Given the description of an element on the screen output the (x, y) to click on. 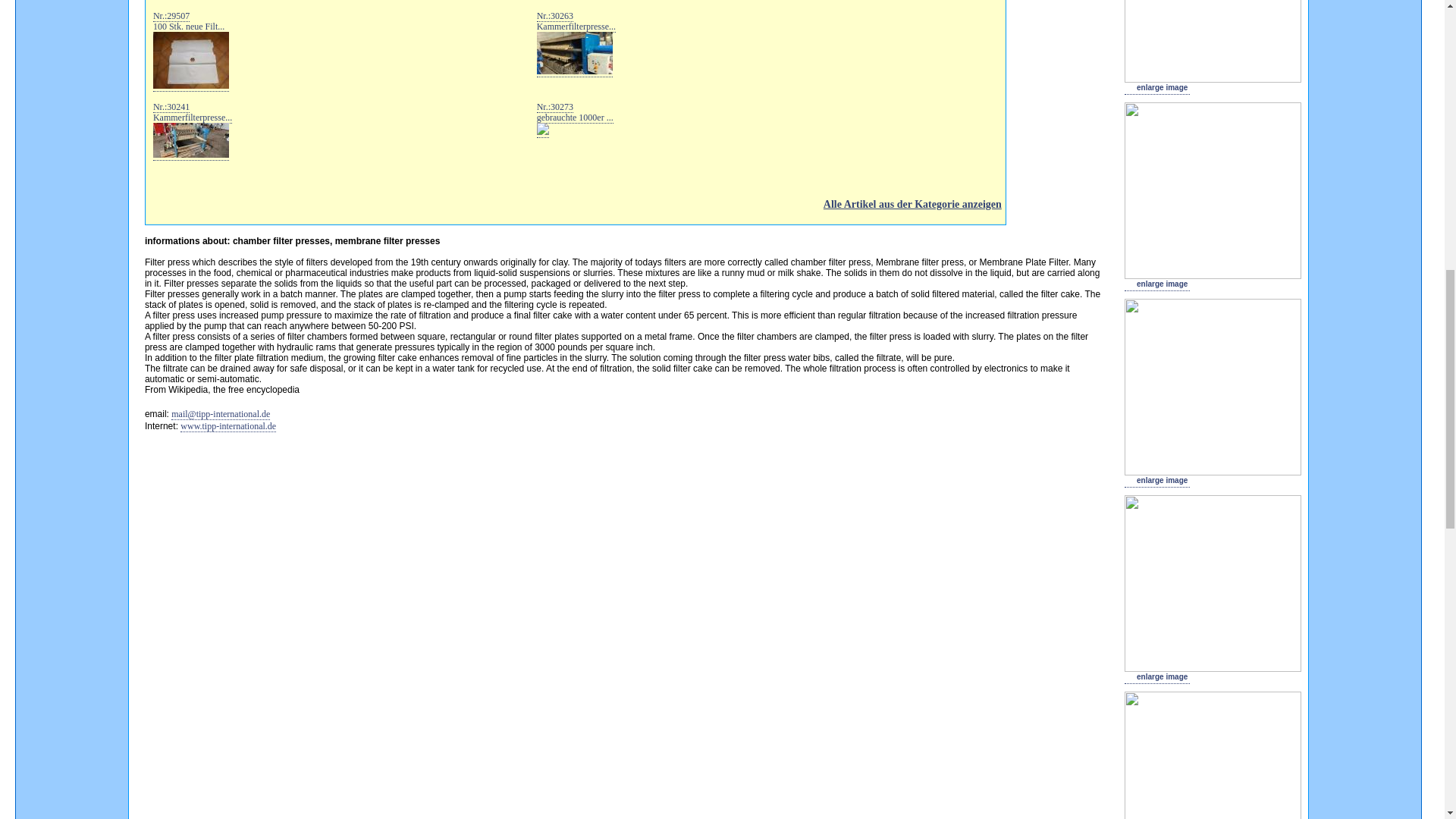
Alle Artikel aus der Kategorie anzeigen (575, 204)
www.tipp-international.de (190, 50)
enlarge image (228, 426)
enlarge image (1156, 87)
